Given the description of an element on the screen output the (x, y) to click on. 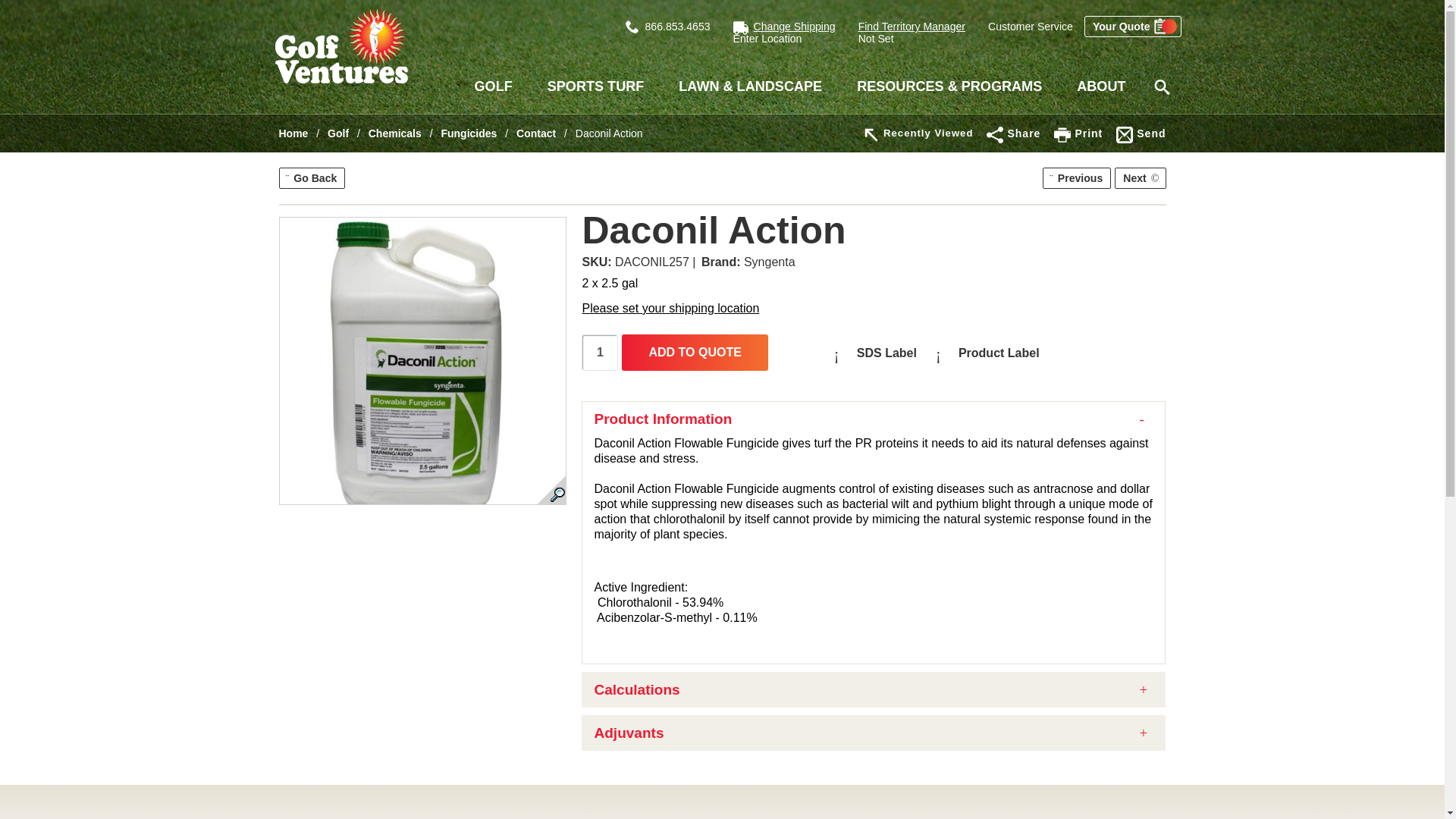
Customer Service (1030, 26)
Golf Ventures (341, 45)
Add To Quote (694, 352)
Change Shipping (794, 26)
GOLF (493, 86)
1 (598, 352)
Your Quote (1132, 25)
866.853.4653 (668, 26)
Find Territory Manager (912, 26)
